Given the description of an element on the screen output the (x, y) to click on. 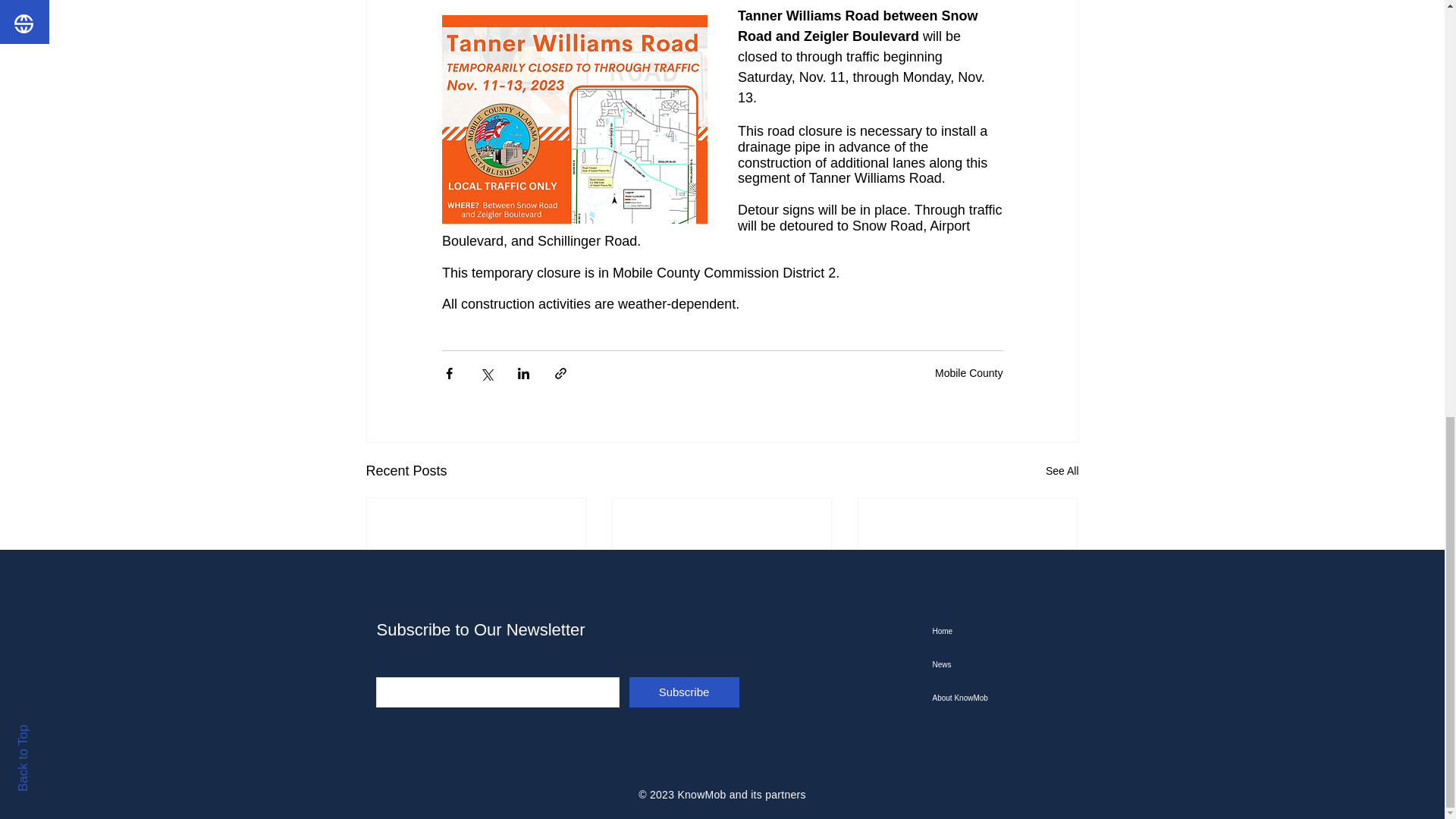
Mobile County (968, 372)
News (1009, 664)
Sanderson Named Mobile County Engineer (476, 654)
See All (1061, 471)
Home (1009, 631)
About KnowMob (1009, 697)
Subscribe (683, 692)
